Given the description of an element on the screen output the (x, y) to click on. 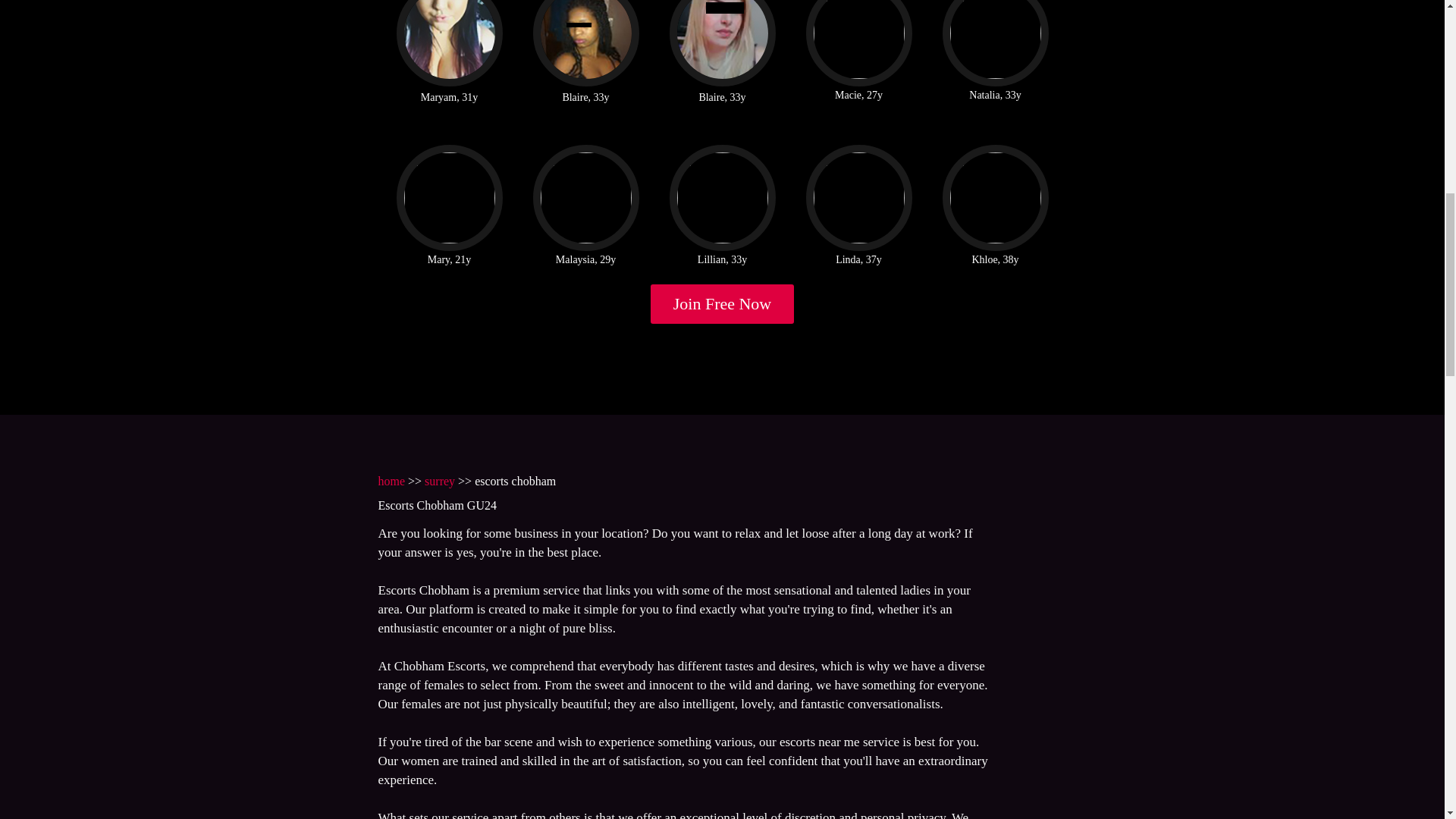
home (390, 481)
surrey (439, 481)
Join (722, 303)
Join Free Now (722, 303)
